Given the description of an element on the screen output the (x, y) to click on. 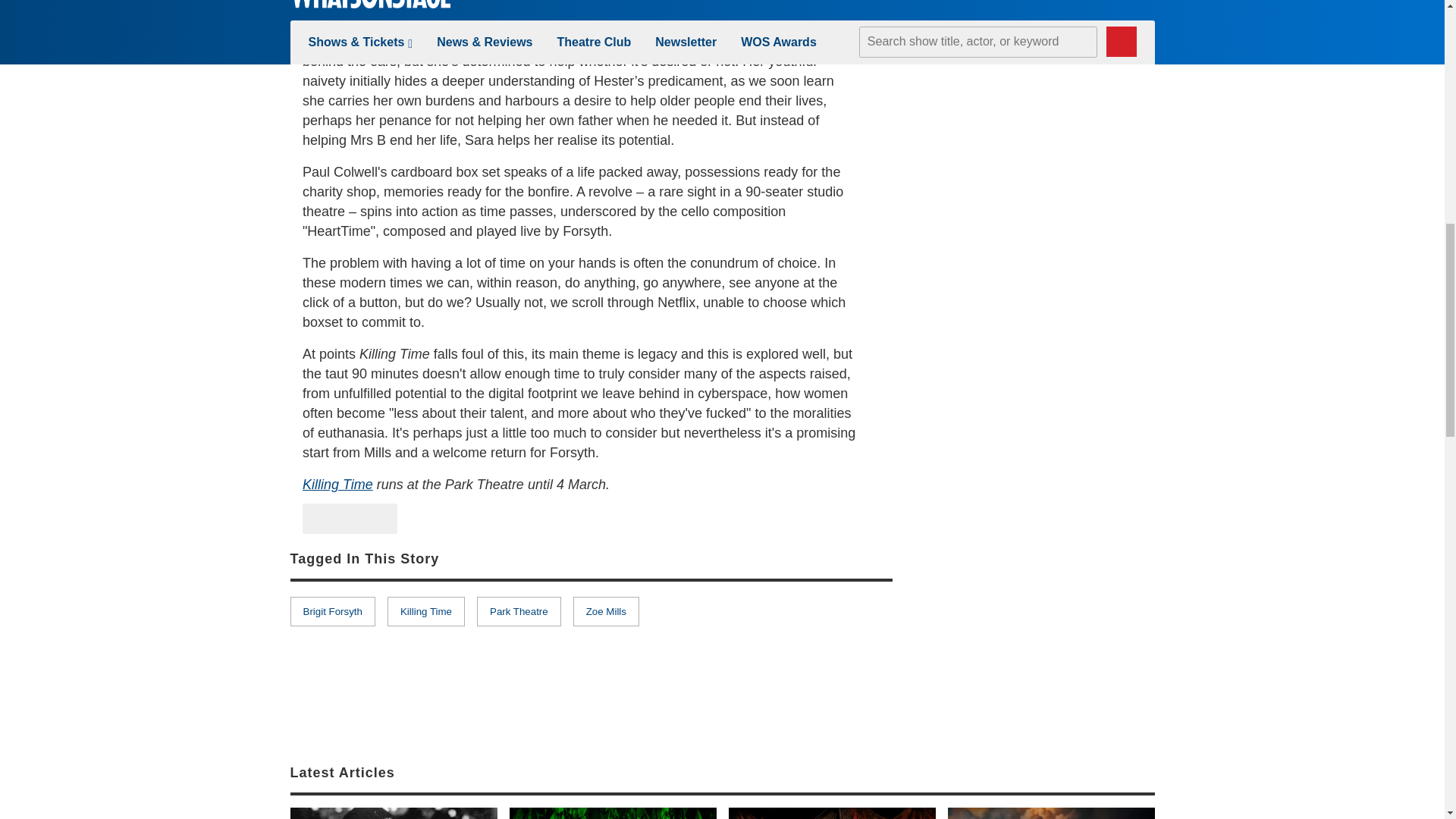
3rd party ad content (1040, 634)
